Given the description of an element on the screen output the (x, y) to click on. 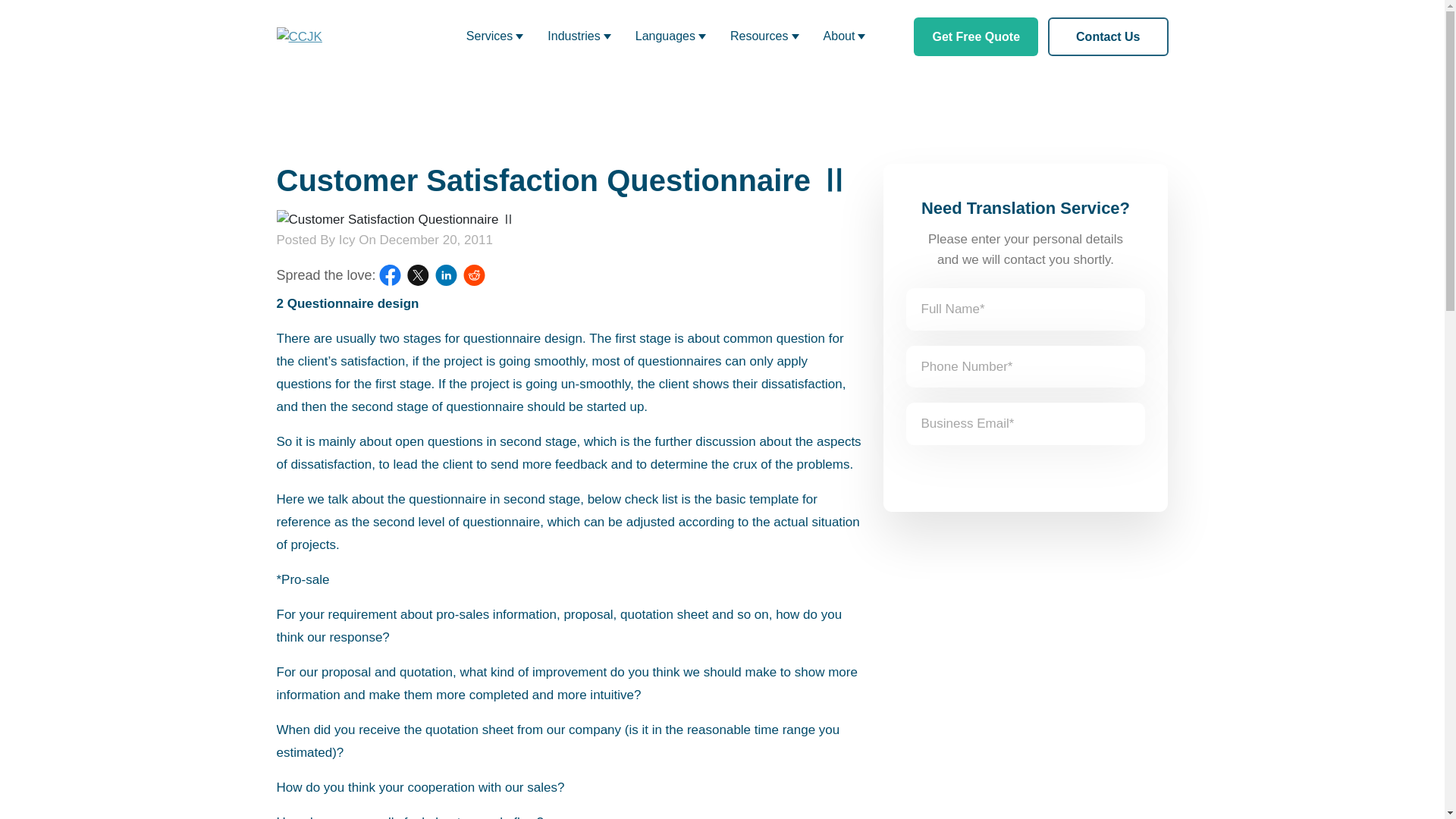
Tweet this (418, 274)
Industries (578, 36)
Languages (669, 36)
Services (494, 36)
